Given the description of an element on the screen output the (x, y) to click on. 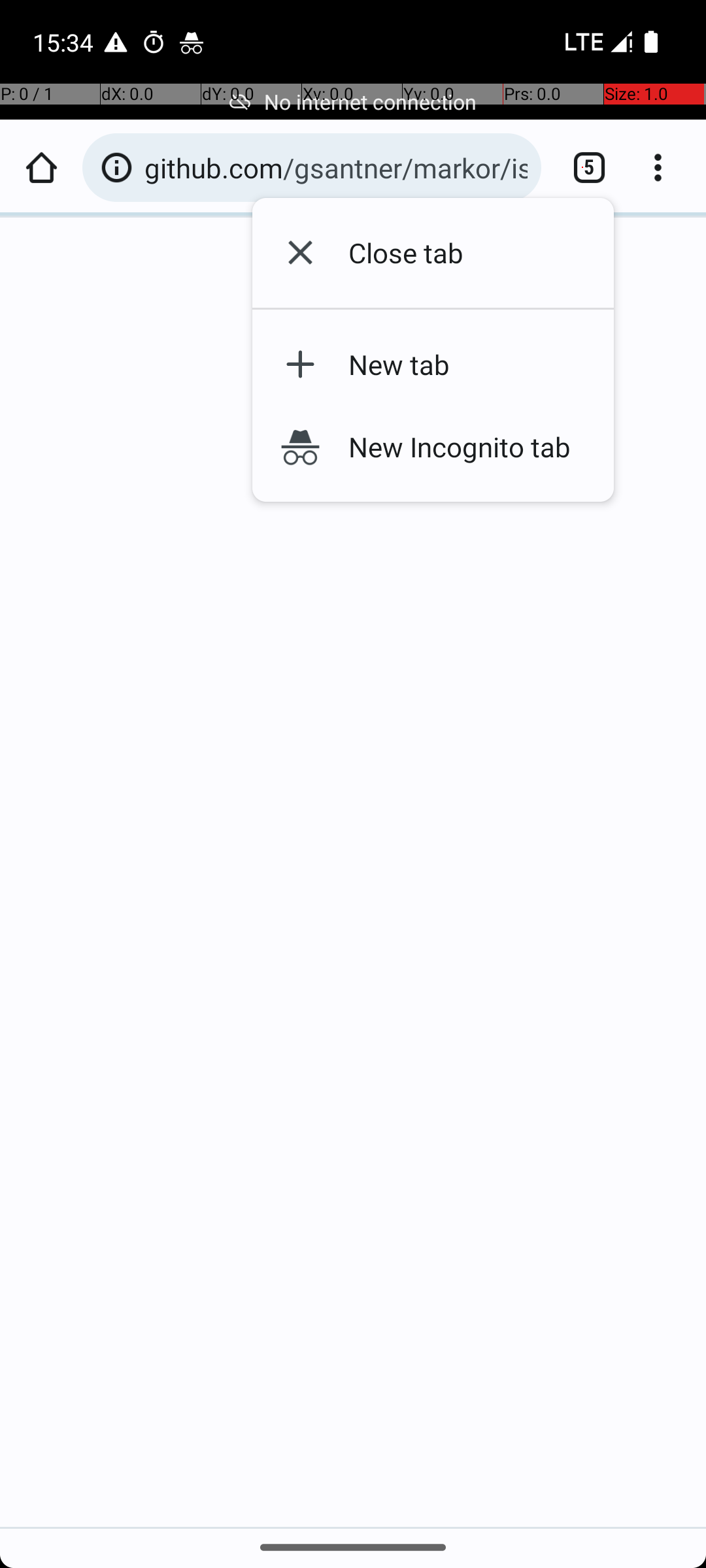
New tab Element type: android.widget.TextView (453, 363)
New Incognito tab Element type: android.widget.TextView (453, 446)
